Given the description of an element on the screen output the (x, y) to click on. 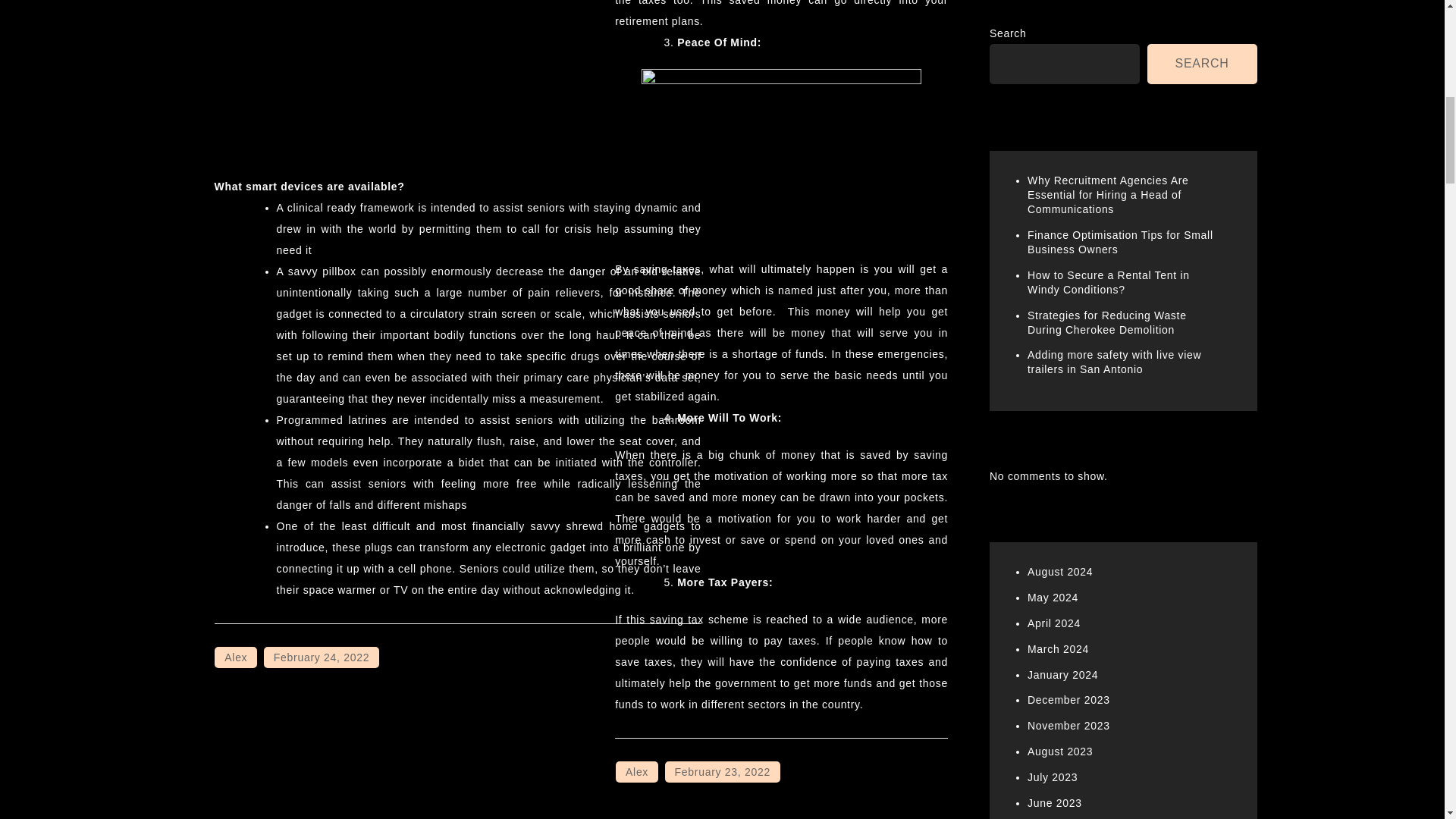
February 24, 2022 (320, 657)
Alex (636, 771)
February 23, 2022 (722, 771)
Alex (235, 657)
